Given the description of an element on the screen output the (x, y) to click on. 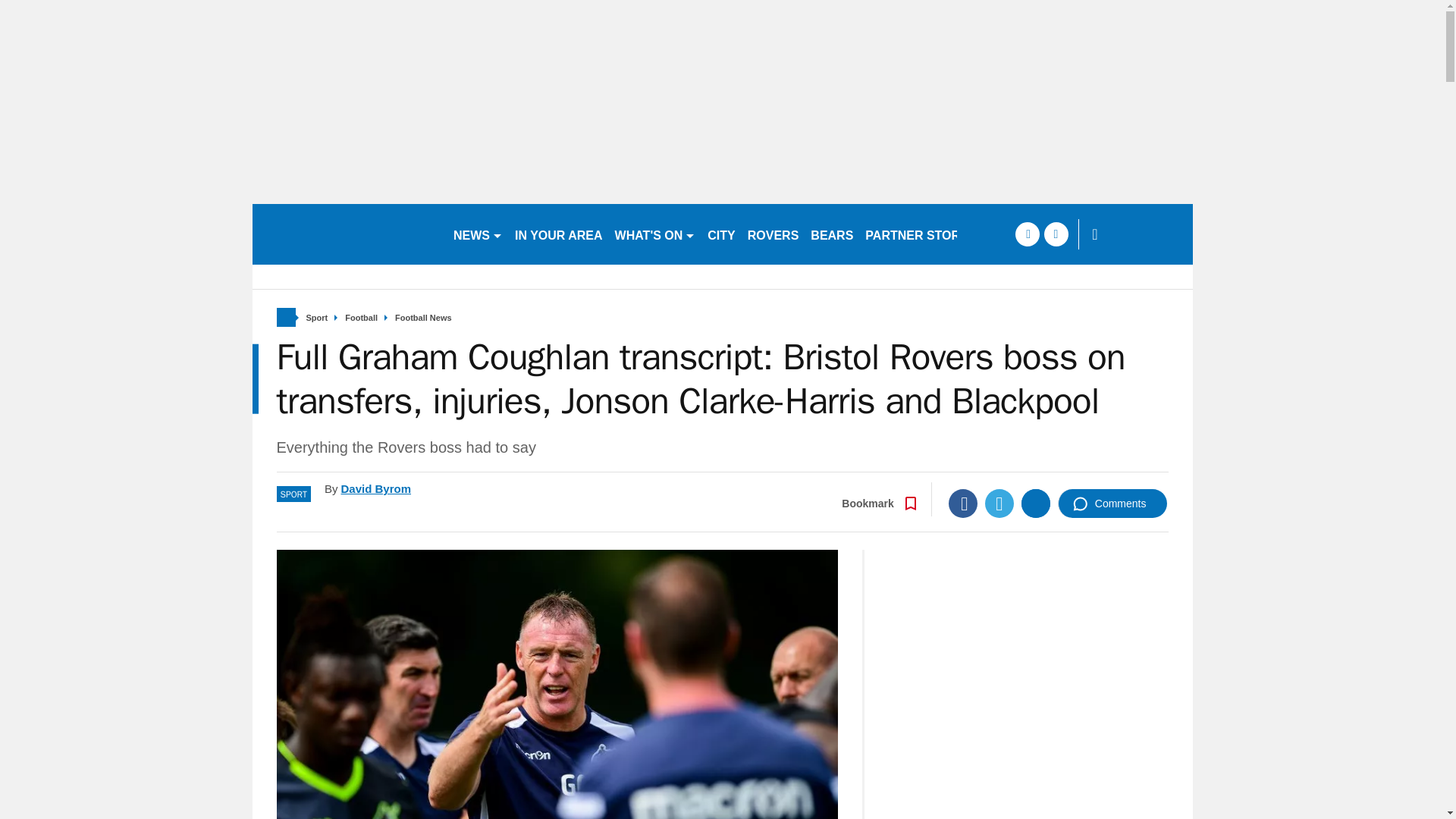
NEWS (477, 233)
WHAT'S ON (654, 233)
Twitter (999, 502)
PARTNER STORIES (922, 233)
IN YOUR AREA (558, 233)
Comments (1112, 502)
BEARS (832, 233)
facebook (1026, 233)
twitter (1055, 233)
ROVERS (773, 233)
